Given the description of an element on the screen output the (x, y) to click on. 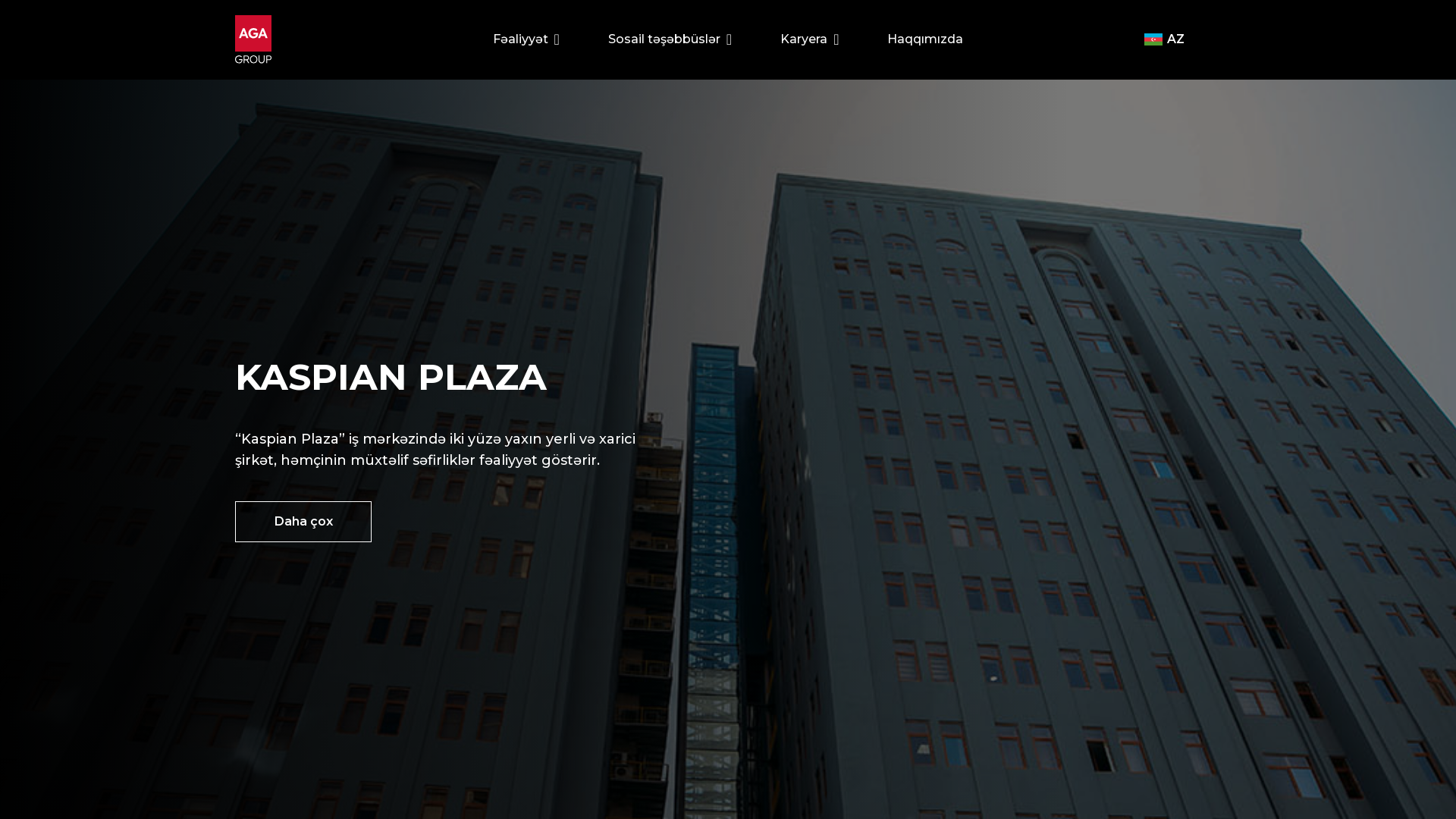
Karyera Element type: text (809, 39)
